Given the description of an element on the screen output the (x, y) to click on. 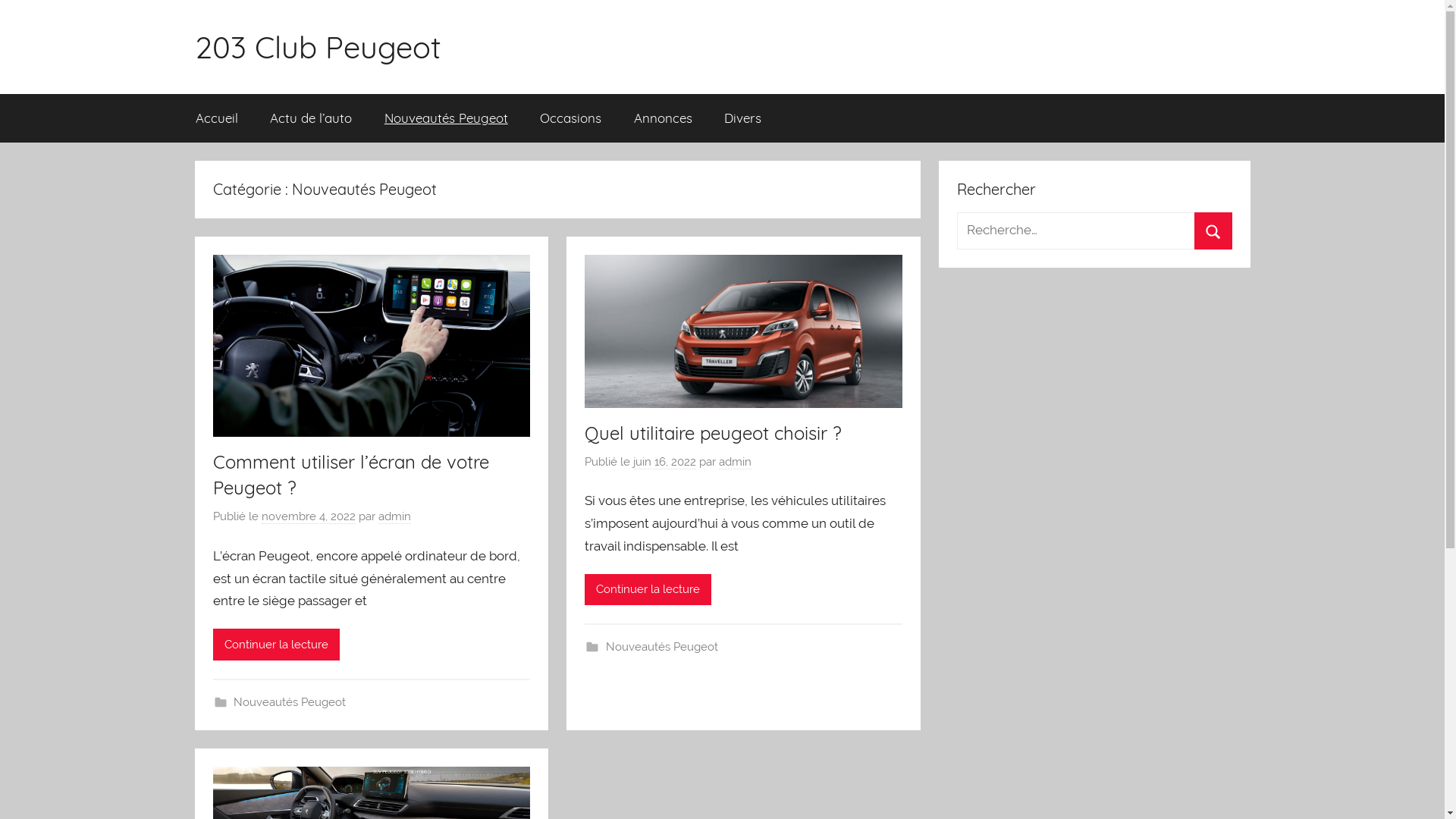
Accueil Element type: text (216, 118)
Continuer la lecture Element type: text (275, 643)
Quel utilitaire peugeot choisir ? Element type: text (712, 432)
Continuer la lecture Element type: text (647, 589)
Annonces Element type: text (662, 118)
Divers Element type: text (743, 118)
Occasions Element type: text (571, 118)
novembre 4, 2022 Element type: text (307, 516)
admin Element type: text (734, 462)
Aller au contenu Element type: text (0, 0)
203 Club Peugeot Element type: text (317, 46)
Recherche pour : Element type: hover (1094, 230)
juin 16, 2022 Element type: text (664, 462)
admin Element type: text (393, 516)
